Given the description of an element on the screen output the (x, y) to click on. 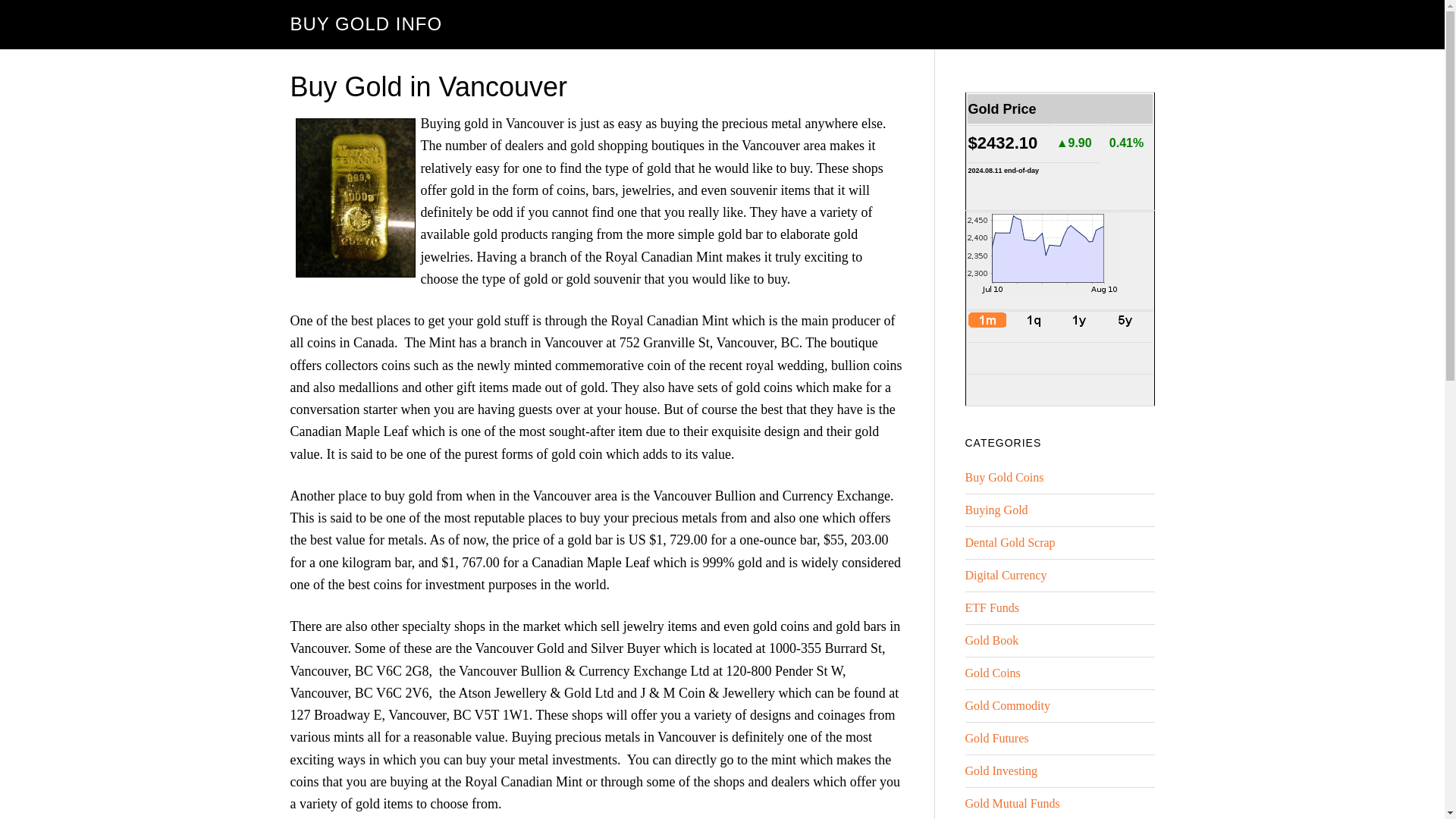
Gold Futures (995, 738)
Gold Mutual Funds (1011, 802)
Dental Gold Scrap (1008, 542)
BUY GOLD INFO (365, 23)
Gold Coins (991, 672)
Gold Investing (999, 770)
Buy Gold Coins (1003, 477)
Buying Gold (995, 509)
Gold Commodity (1006, 705)
ETF Funds (991, 607)
